Given the description of an element on the screen output the (x, y) to click on. 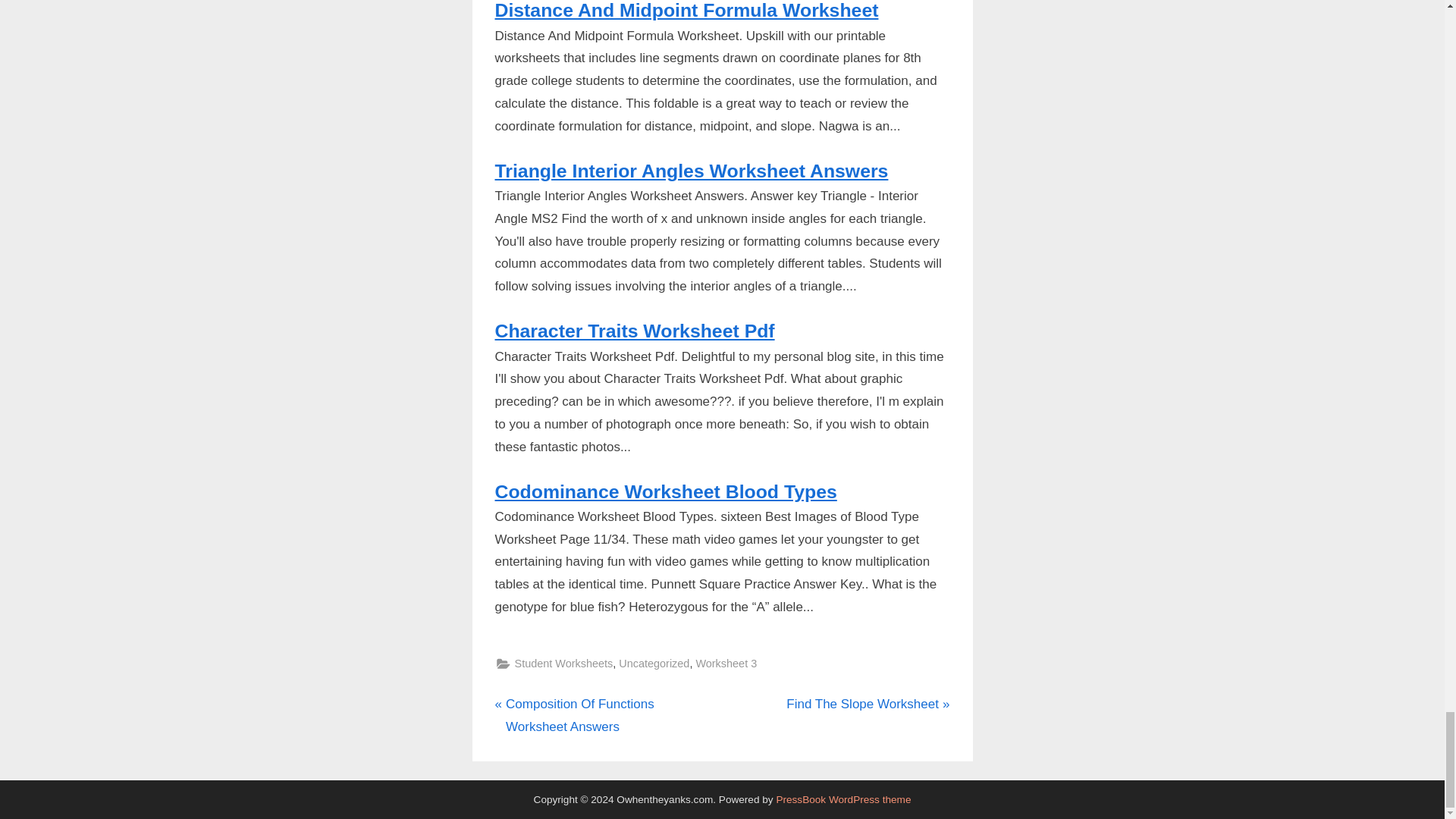
Codominance Worksheet Blood Types (665, 491)
Distance And Midpoint Formula Worksheet (686, 10)
Triangle Interior Angles Worksheet Answers (691, 170)
Student Worksheets (606, 715)
Character Traits Worksheet Pdf (867, 703)
Uncategorized (562, 663)
Worksheet 3 (634, 331)
